Given the description of an element on the screen output the (x, y) to click on. 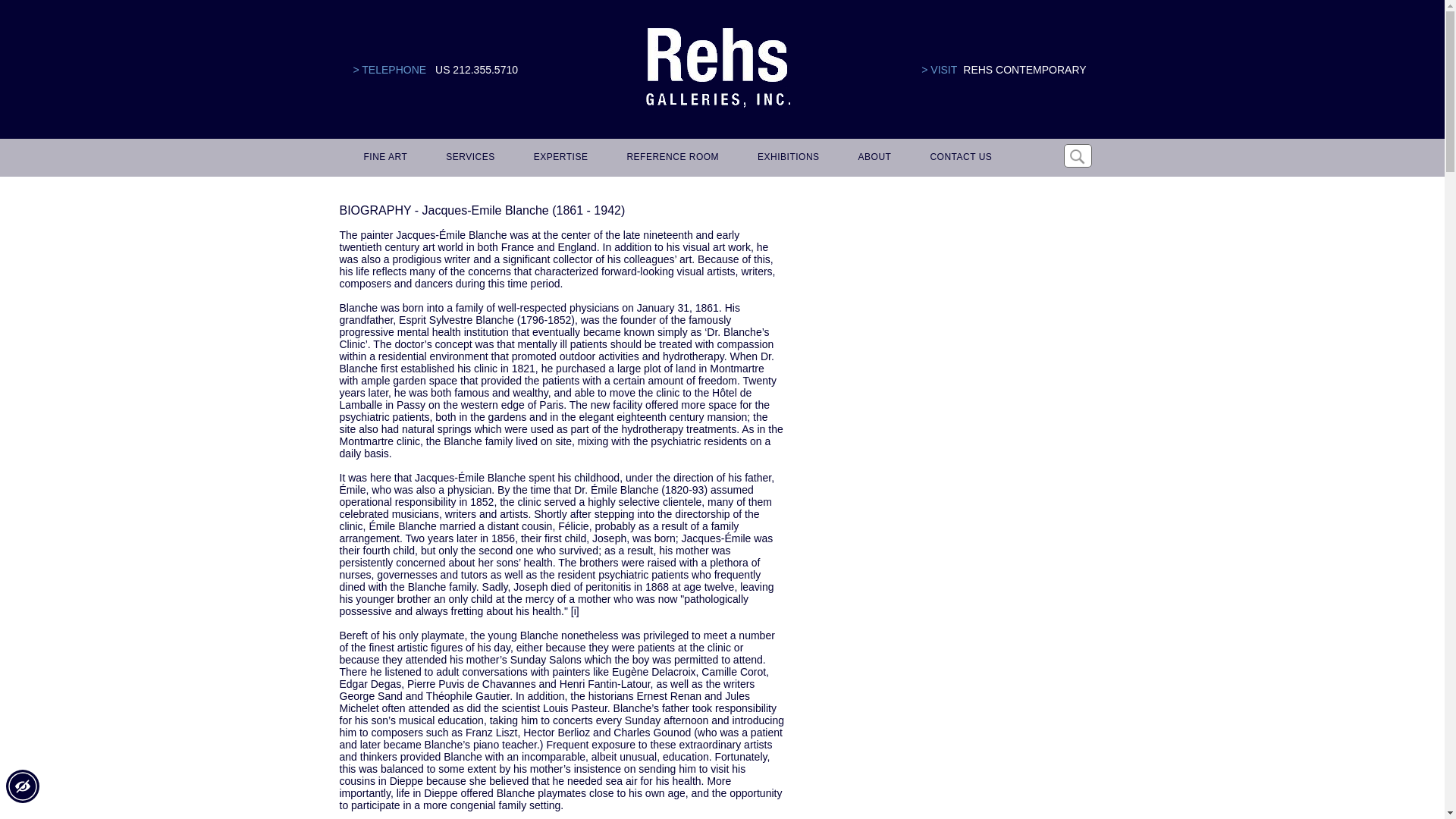
ABOUT (872, 157)
FINE ART (383, 157)
Logo (717, 67)
REFERENCE ROOM (670, 157)
REHS CONTEMPORARY (1024, 69)
CONTACT US (957, 157)
EXPERTISE (558, 157)
SERVICES (467, 157)
Accessibility Menu (22, 786)
EXHIBITIONS (785, 157)
